Given the description of an element on the screen output the (x, y) to click on. 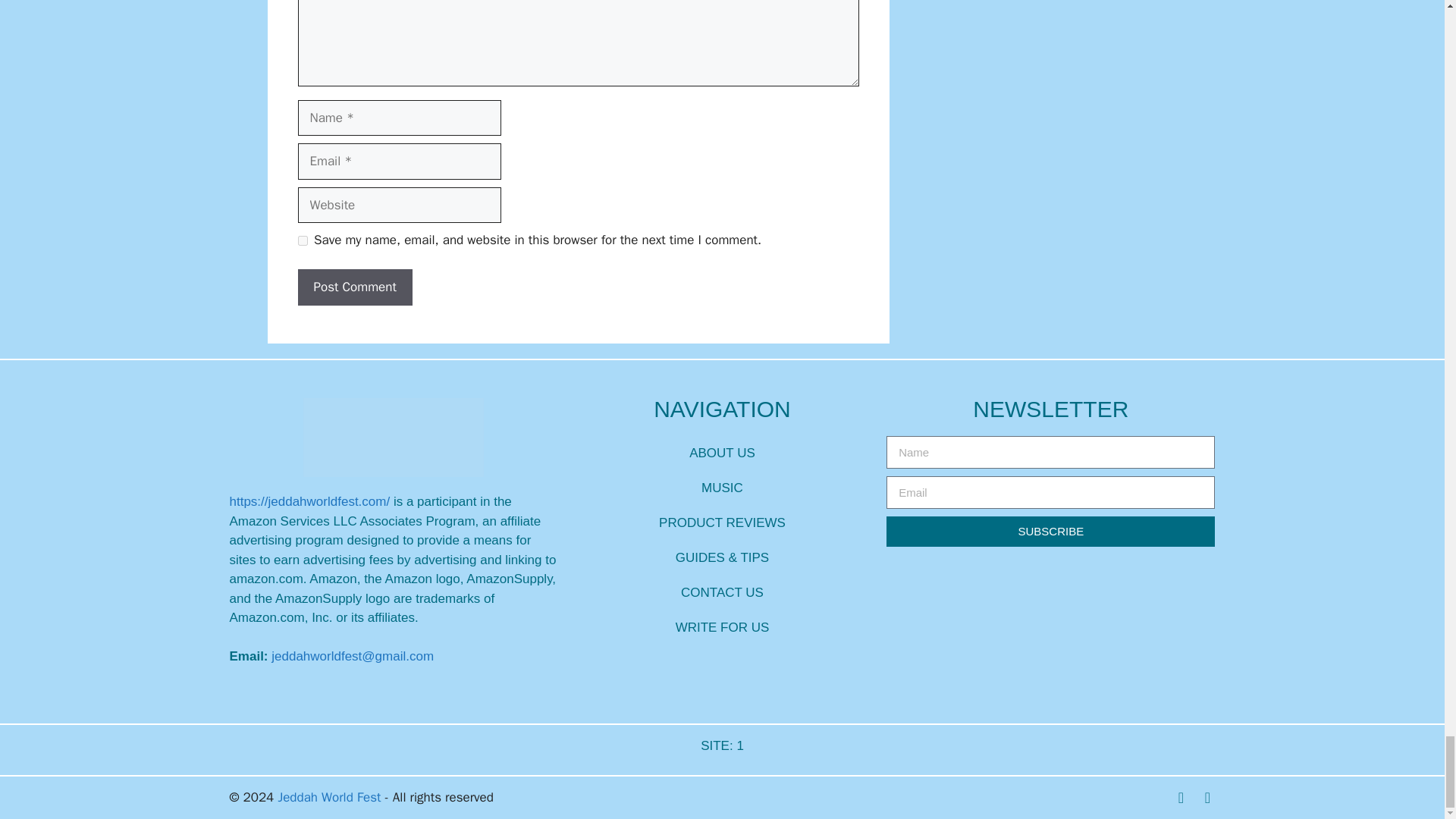
yes (302, 240)
Post Comment (354, 287)
